Given the description of an element on the screen output the (x, y) to click on. 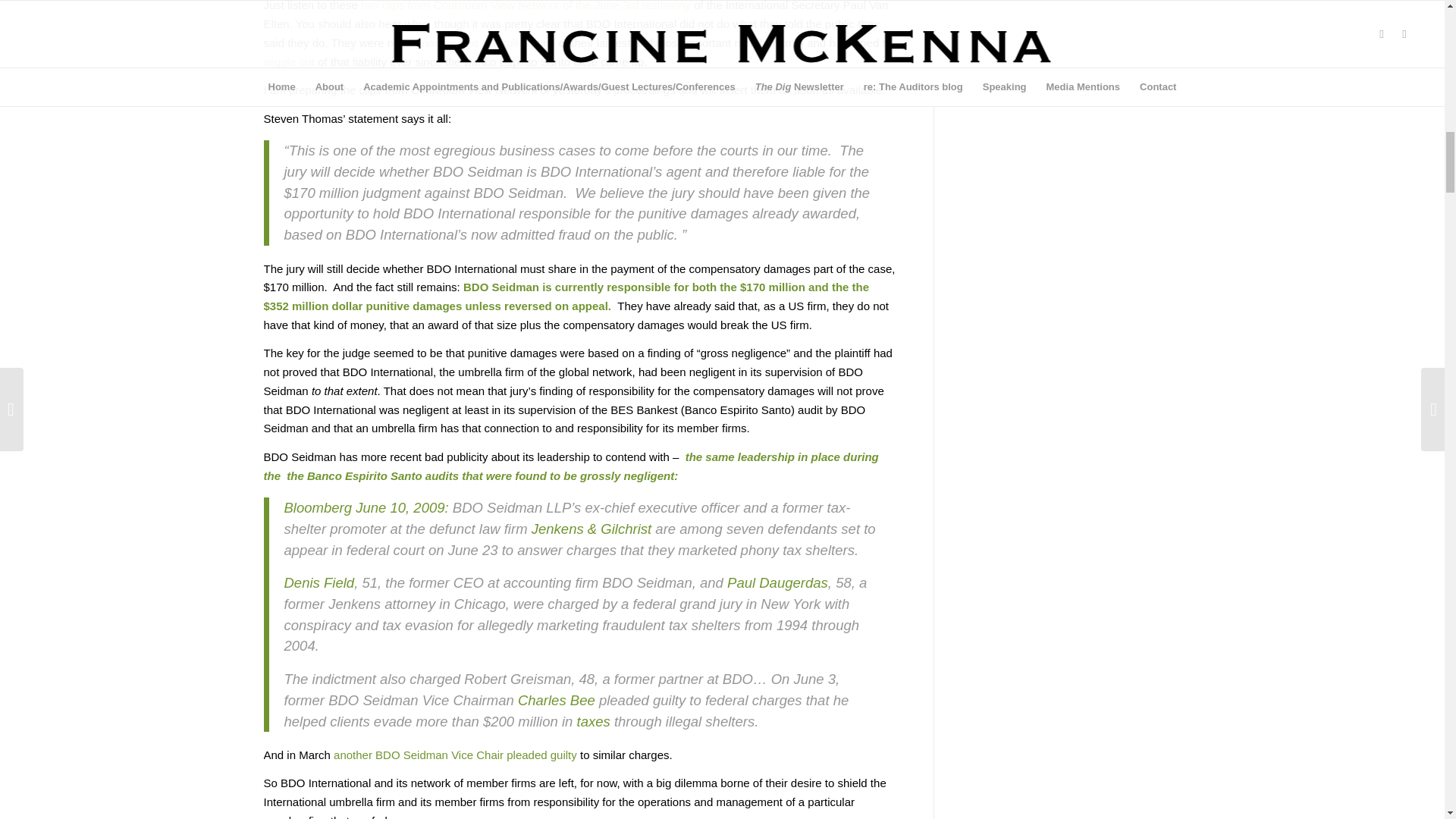
Bloomberg June 10, 2009: (365, 507)
wiggle out (289, 61)
Denis Field (318, 582)
managing and controlling (468, 42)
